Given the description of an element on the screen output the (x, y) to click on. 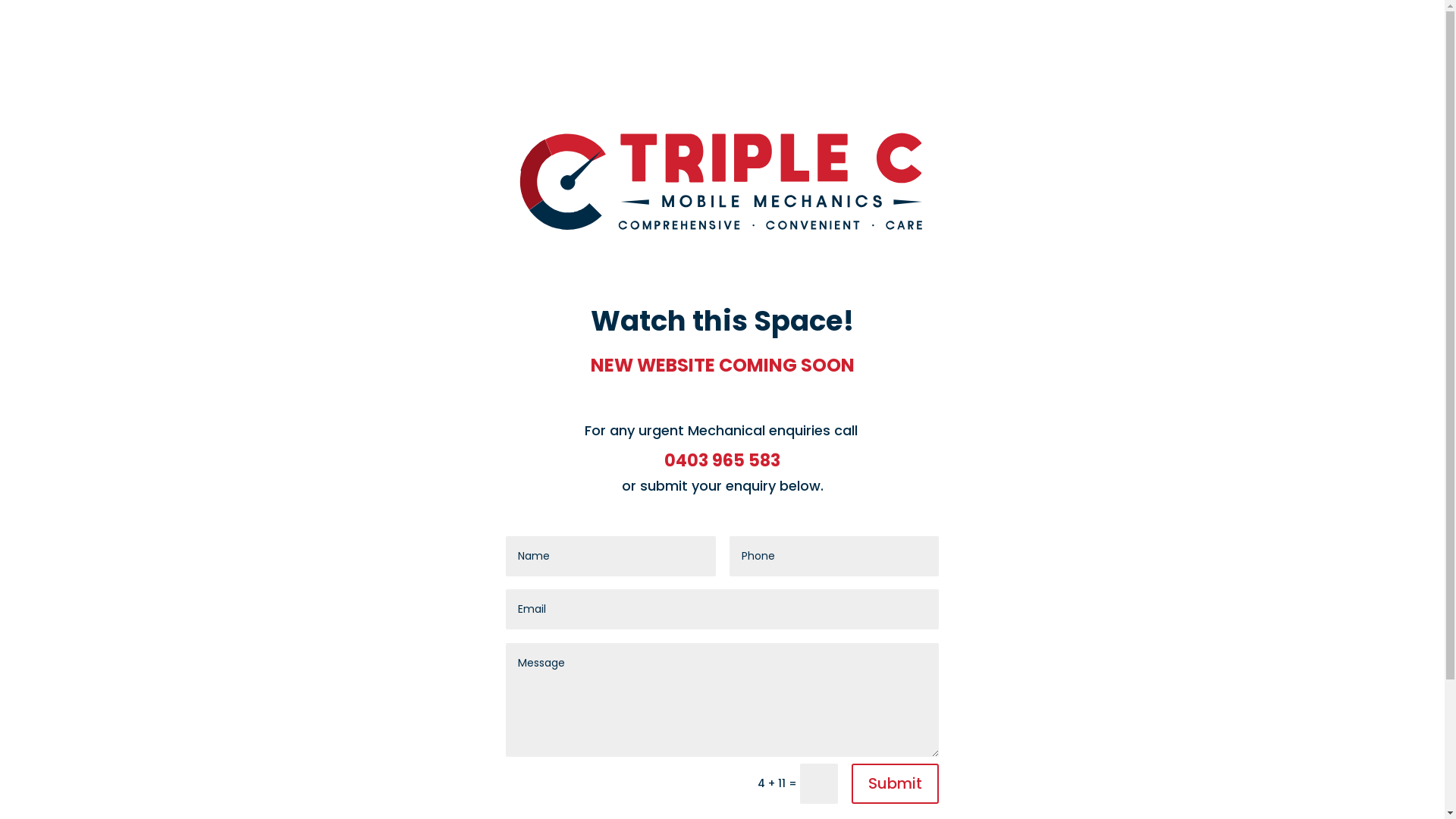
TC_Logo Element type: hover (722, 181)
Submit Element type: text (894, 783)
0403 965 583 Element type: text (722, 460)
